Given the description of an element on the screen output the (x, y) to click on. 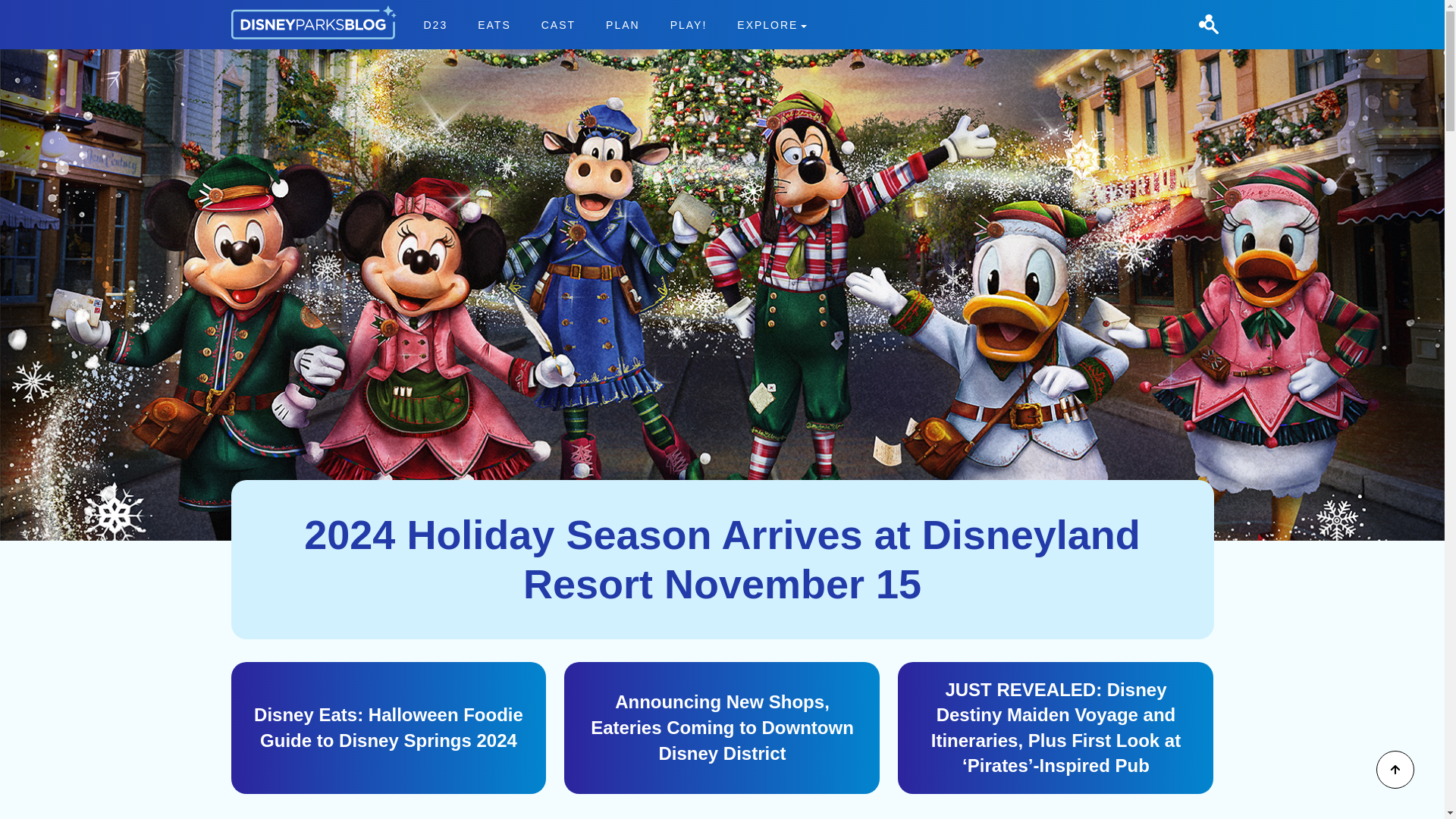
EXPLORE (771, 23)
Skip to content (40, 8)
PLAN (614, 23)
D23 (622, 23)
Disney Eats: Halloween Foodie Guide to Disney Springs 2024 (435, 23)
PLAY! (388, 727)
CAST (688, 23)
EATS (558, 23)
